Given the description of an element on the screen output the (x, y) to click on. 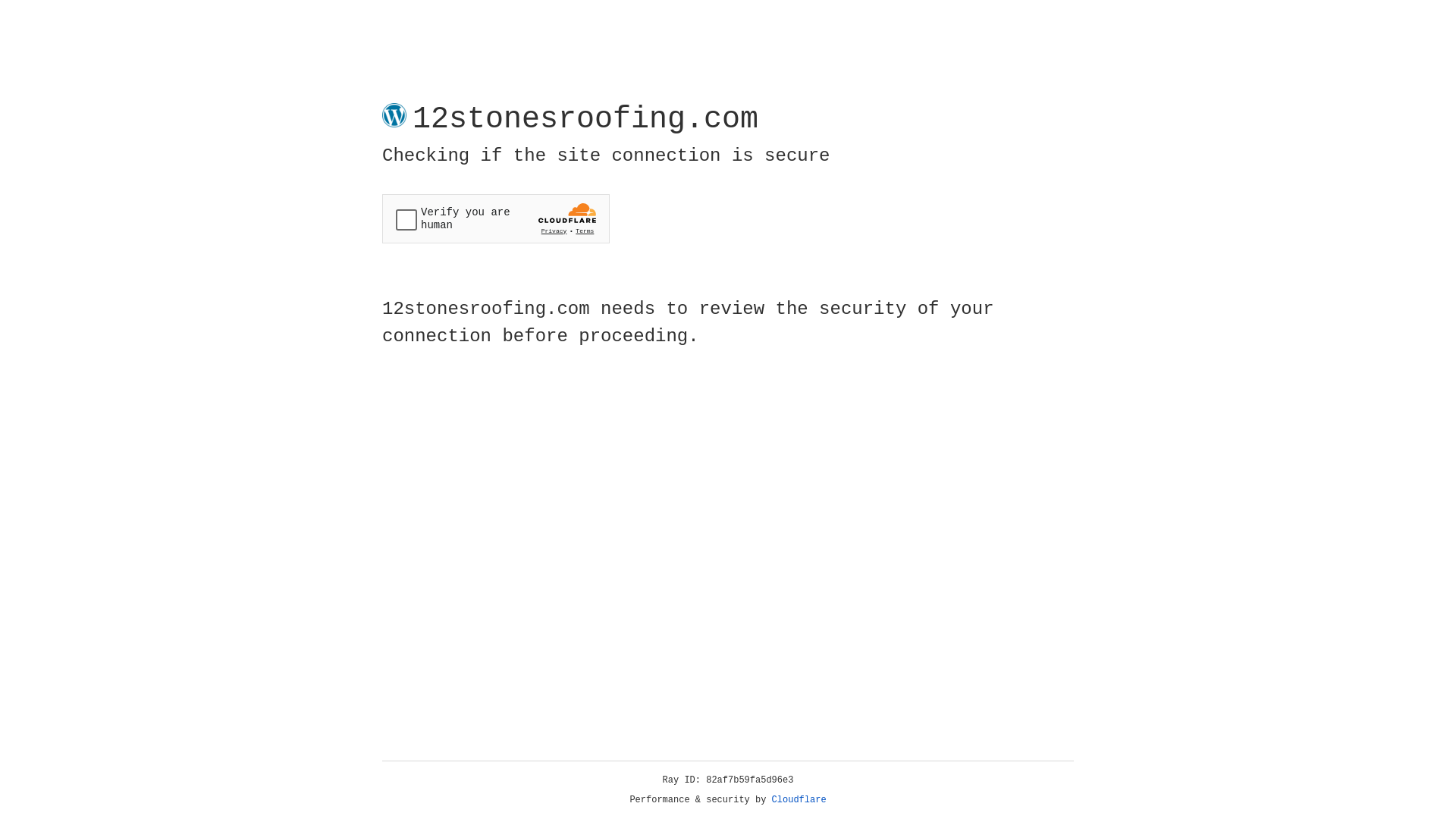
Widget containing a Cloudflare security challenge Element type: hover (495, 218)
Cloudflare Element type: text (798, 799)
